Given the description of an element on the screen output the (x, y) to click on. 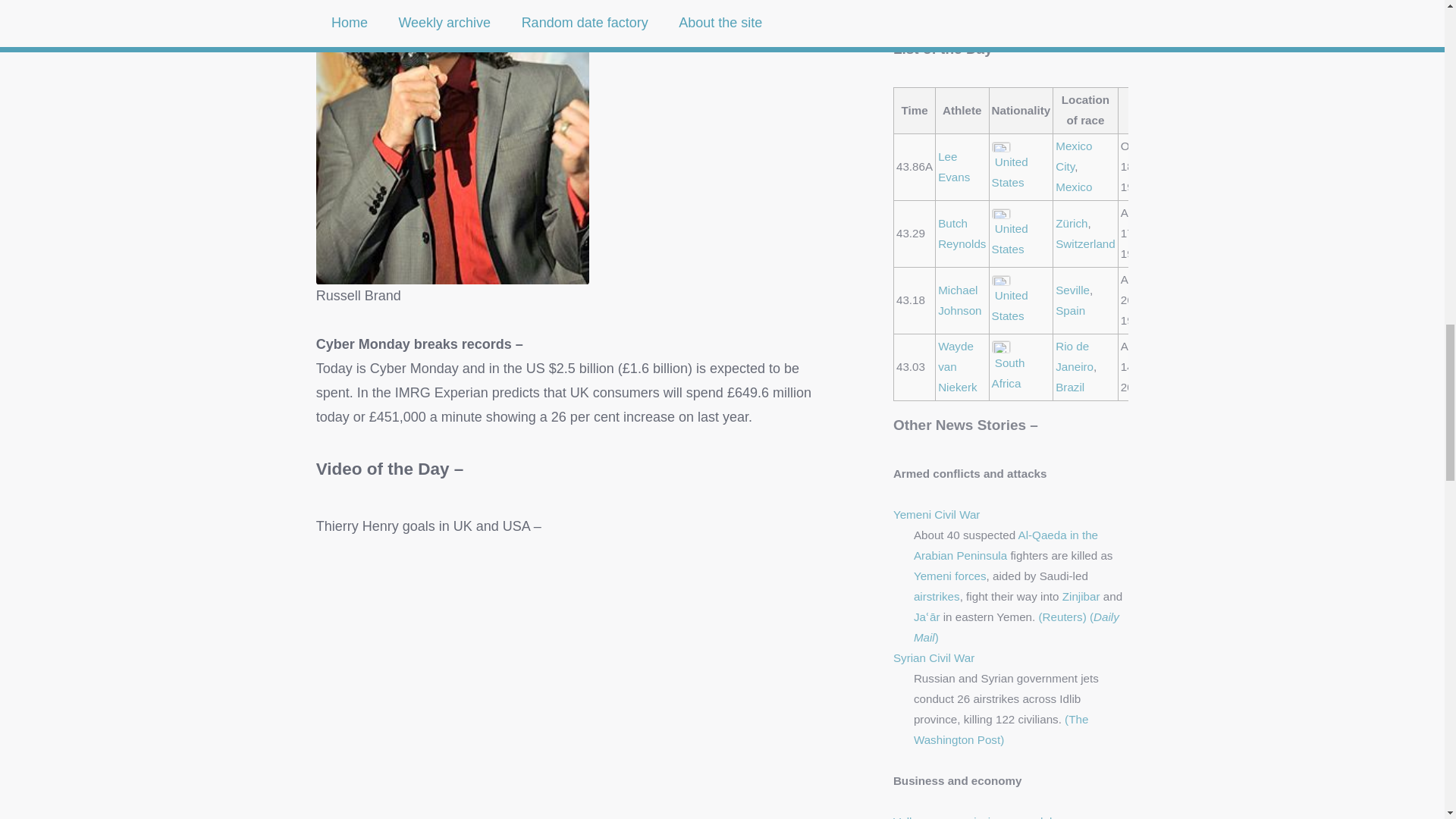
Mexico City (1073, 155)
Butch Reynolds (961, 233)
United States (1009, 172)
Switzerland (1085, 243)
Mexico (1073, 186)
United States (1009, 238)
